Given the description of an element on the screen output the (x, y) to click on. 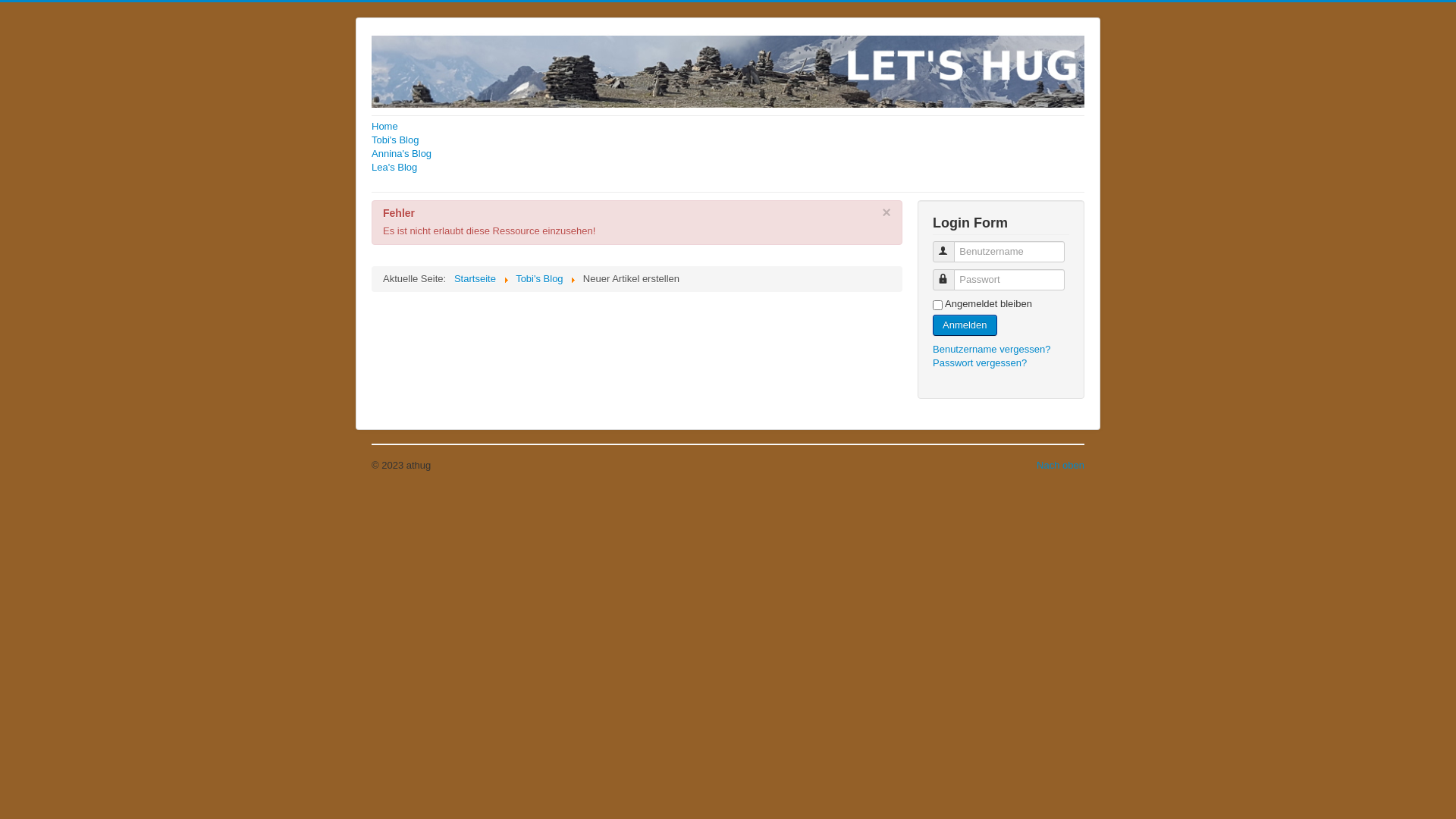
Anmelden Element type: text (964, 324)
Home Element type: text (727, 126)
Nach oben Element type: text (1060, 464)
Annina's Blog Element type: text (727, 153)
Lea's Blog Element type: text (727, 167)
Startseite Element type: text (474, 278)
Benutzername vergessen? Element type: text (991, 348)
Tobi's Blog Element type: text (538, 278)
Passwort vergessen? Element type: text (979, 362)
Tobi's Blog Element type: text (727, 140)
